Given the description of an element on the screen output the (x, y) to click on. 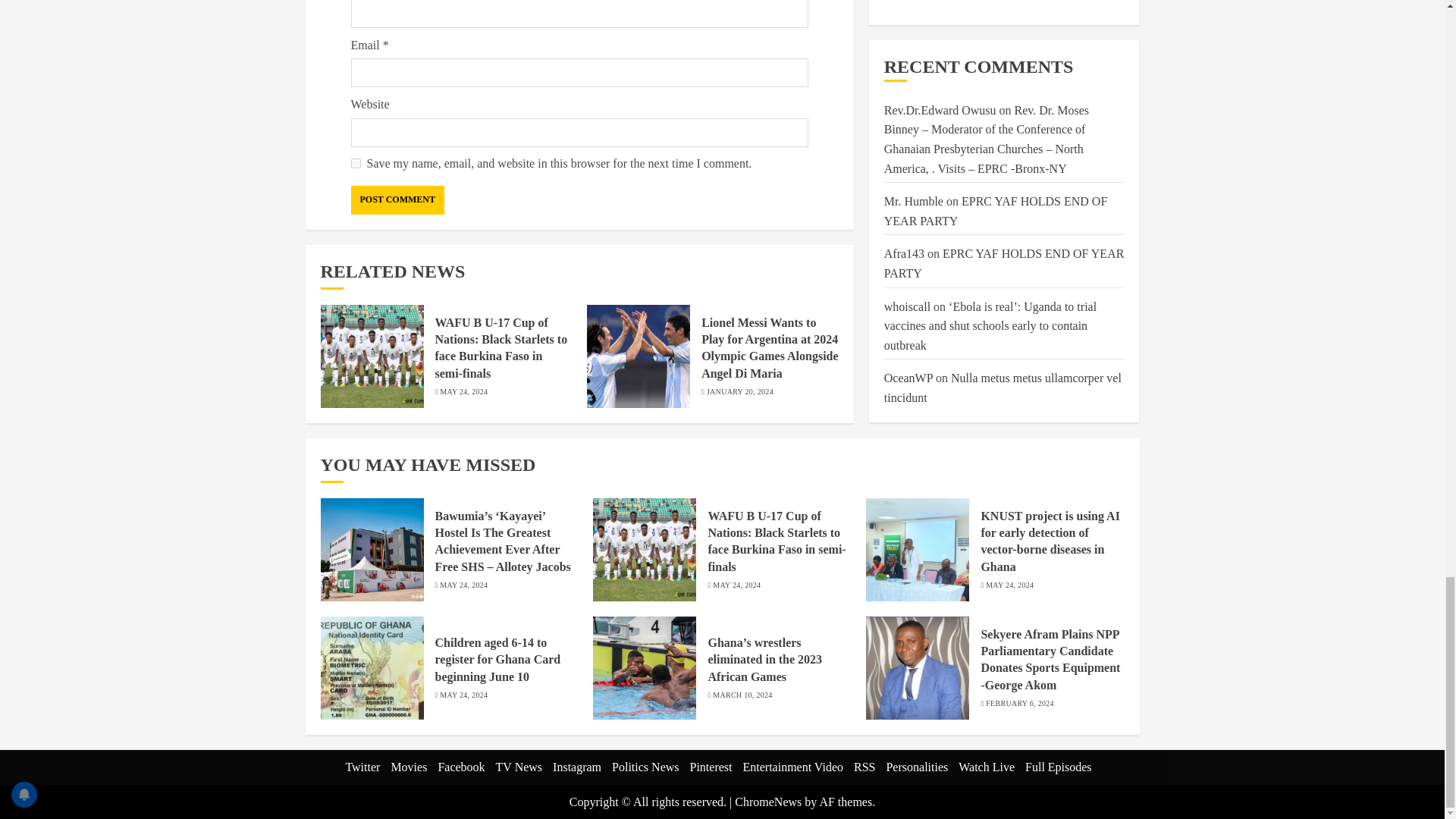
Post Comment (397, 199)
yes (354, 163)
